Given the description of an element on the screen output the (x, y) to click on. 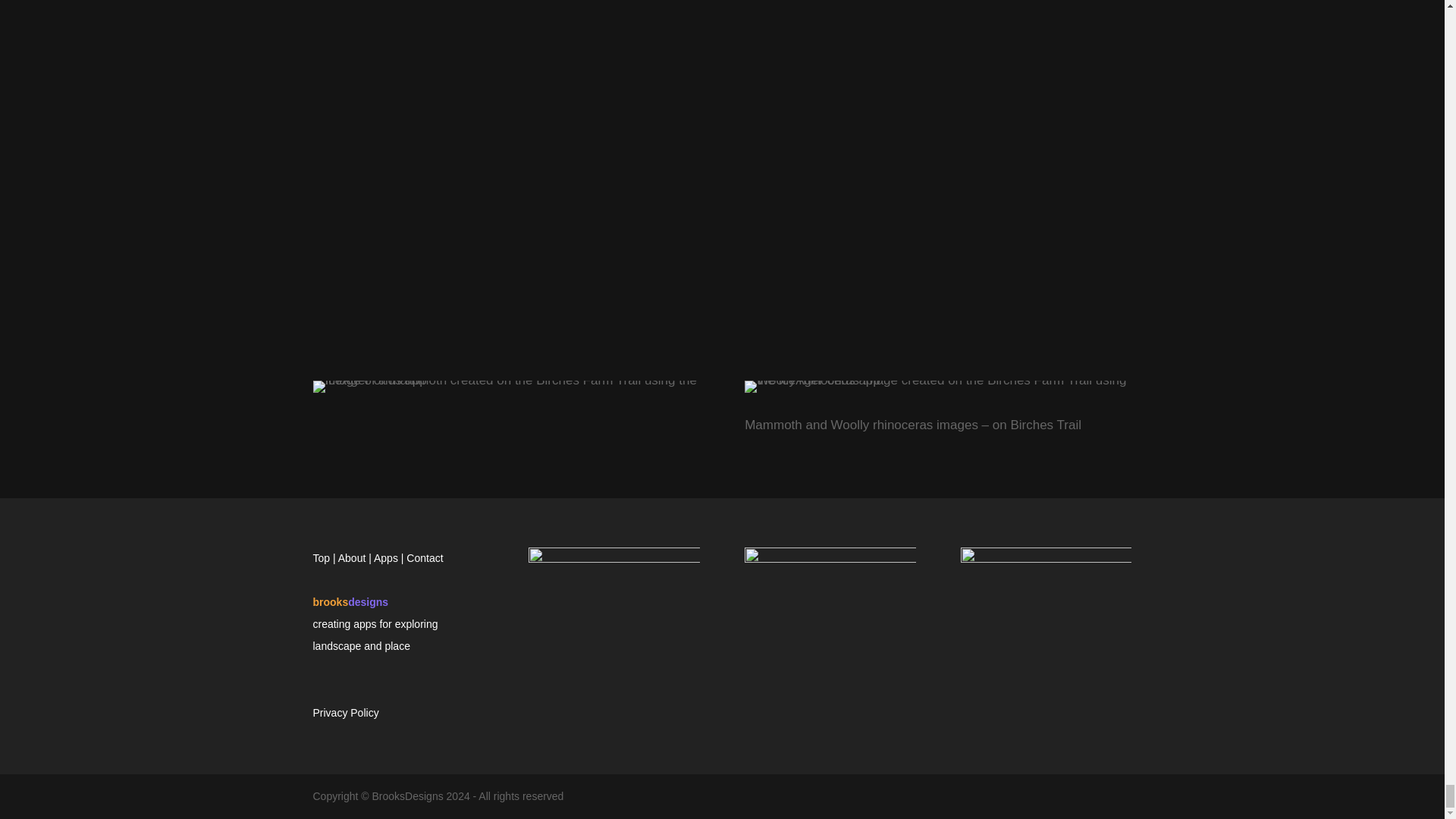
Birches Woolly rhinoceras (937, 386)
Contact (424, 558)
About (351, 558)
Apps (385, 558)
Top (321, 558)
Privacy Policy (345, 712)
Mammoth (505, 386)
